Given the description of an element on the screen output the (x, y) to click on. 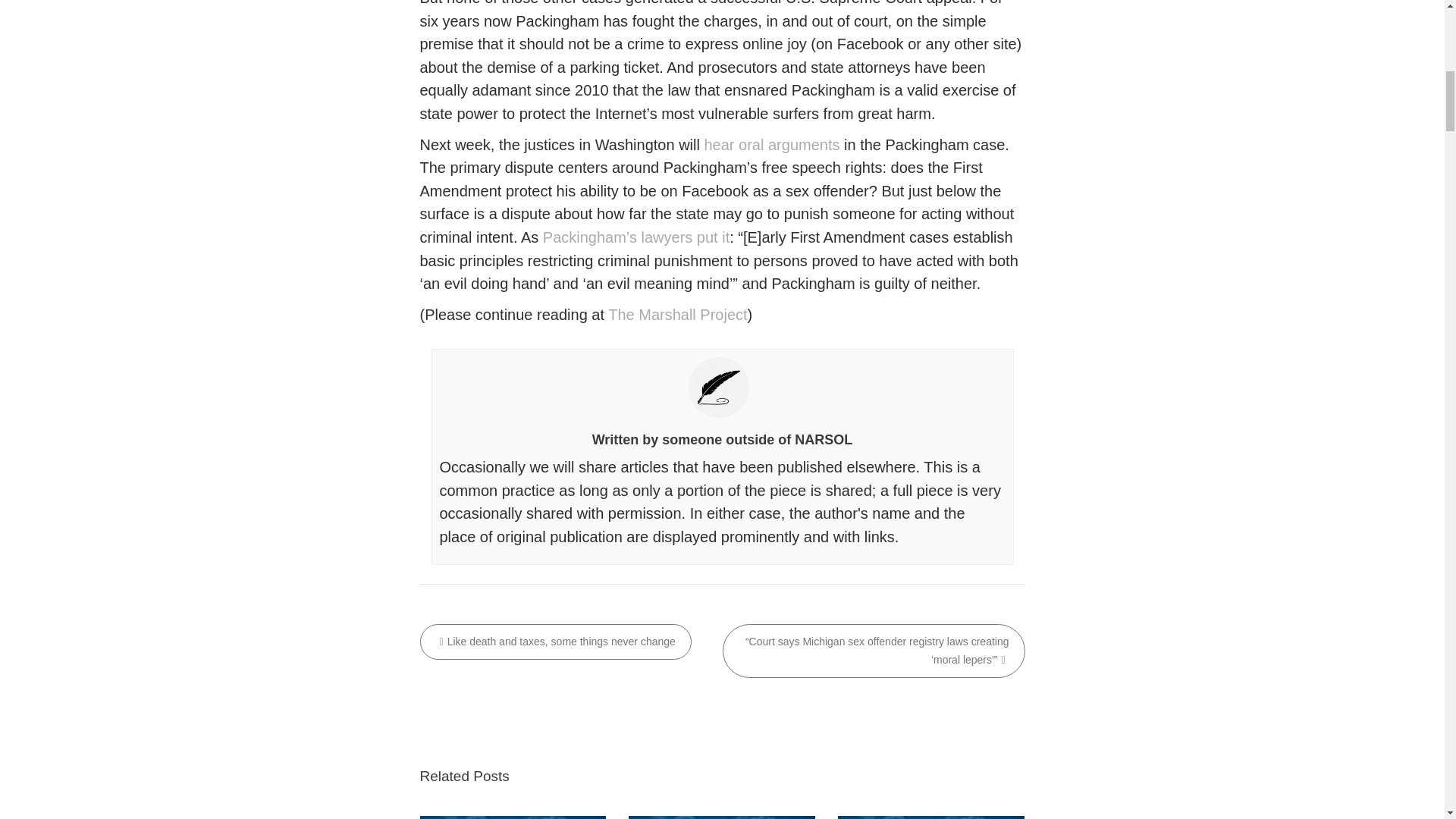
Posts by someone outside of NARSOL (756, 439)
